Given the description of an element on the screen output the (x, y) to click on. 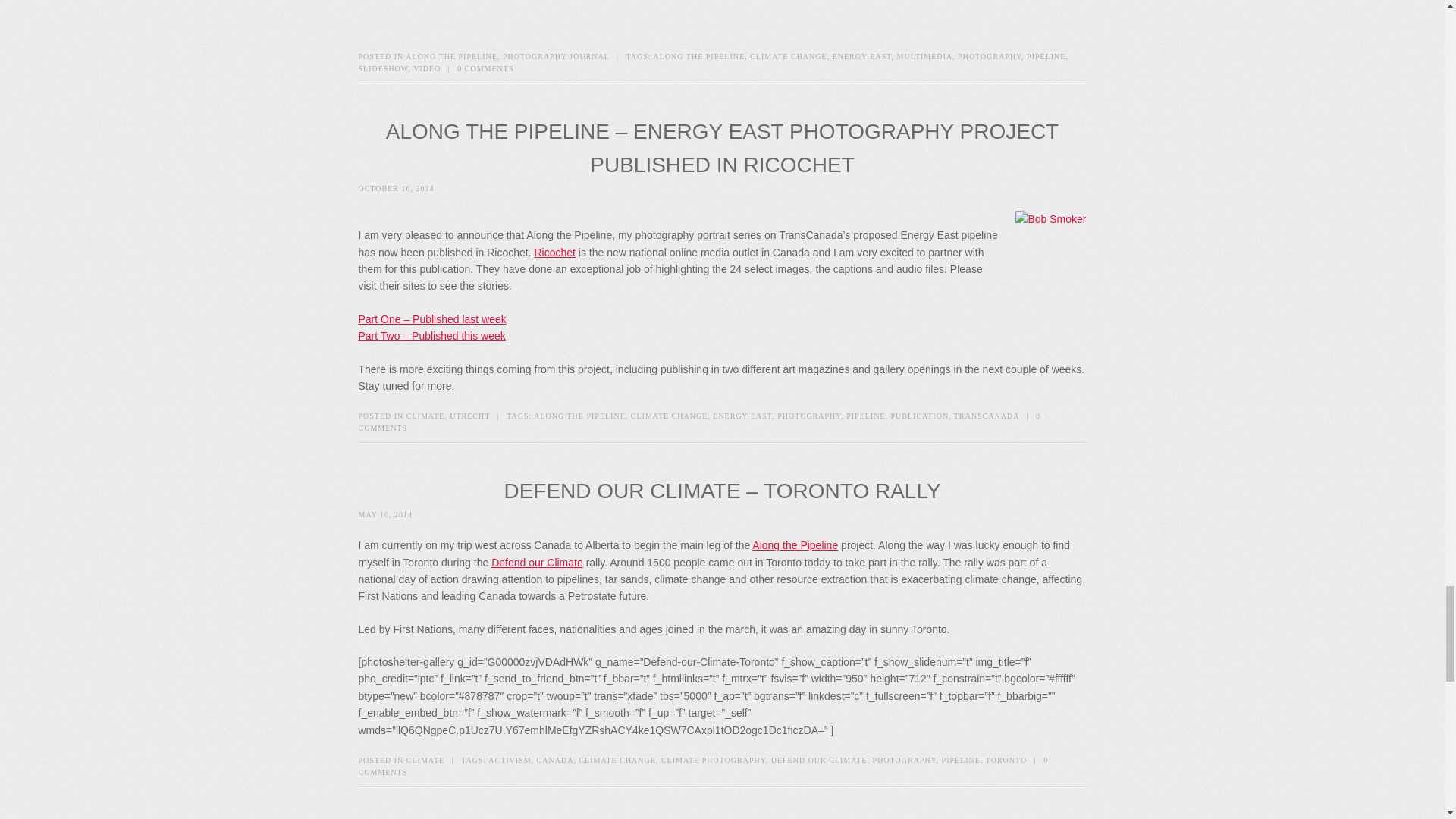
5:57 pm (385, 514)
10:27 am (395, 188)
